Given the description of an element on the screen output the (x, y) to click on. 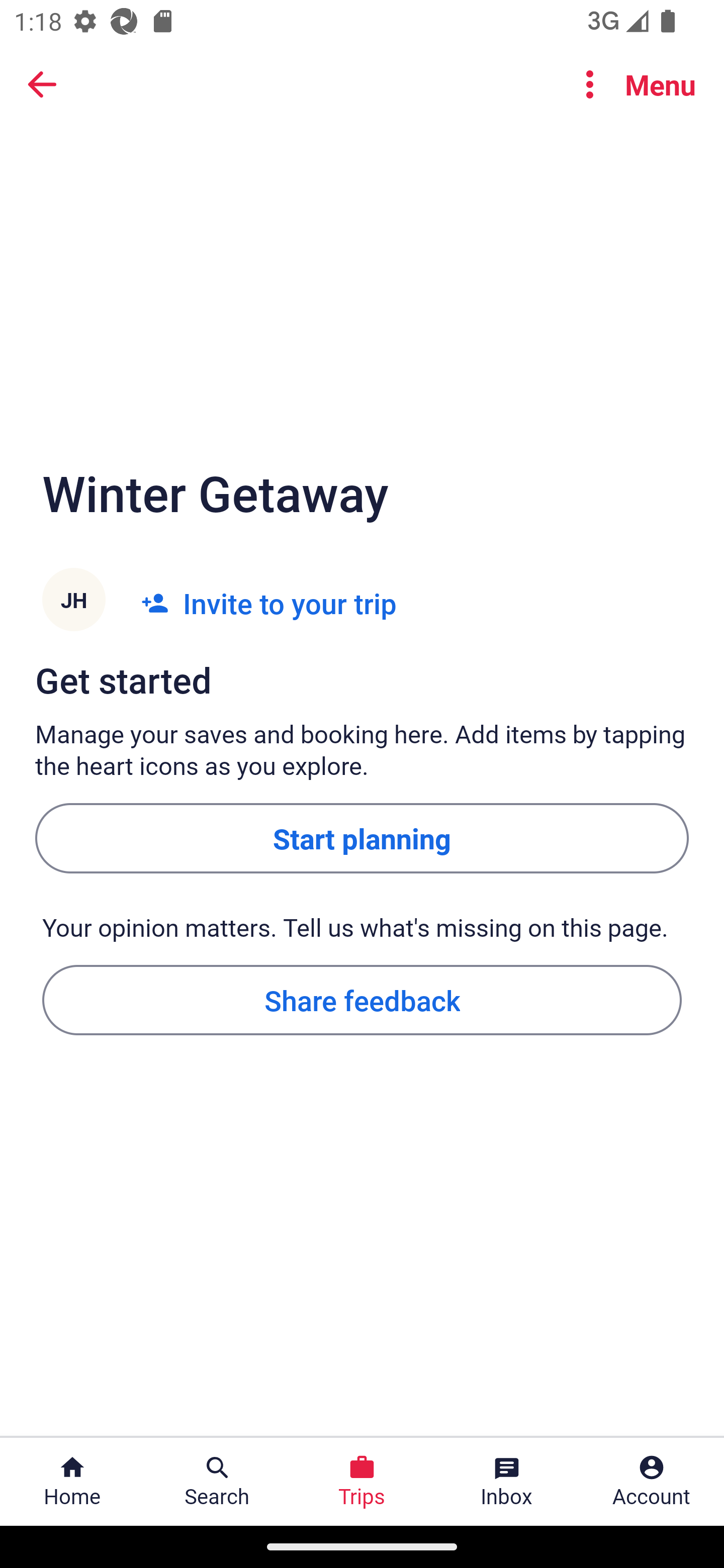
BACK (42, 84)
Menu Menu Button (632, 84)
JH J​H (73, 602)
Share feedback Button Share feedback (361, 999)
Home Home Button (72, 1481)
Search Search Button (216, 1481)
Inbox Inbox Button (506, 1481)
Account Profile. Button (651, 1481)
